Given the description of an element on the screen output the (x, y) to click on. 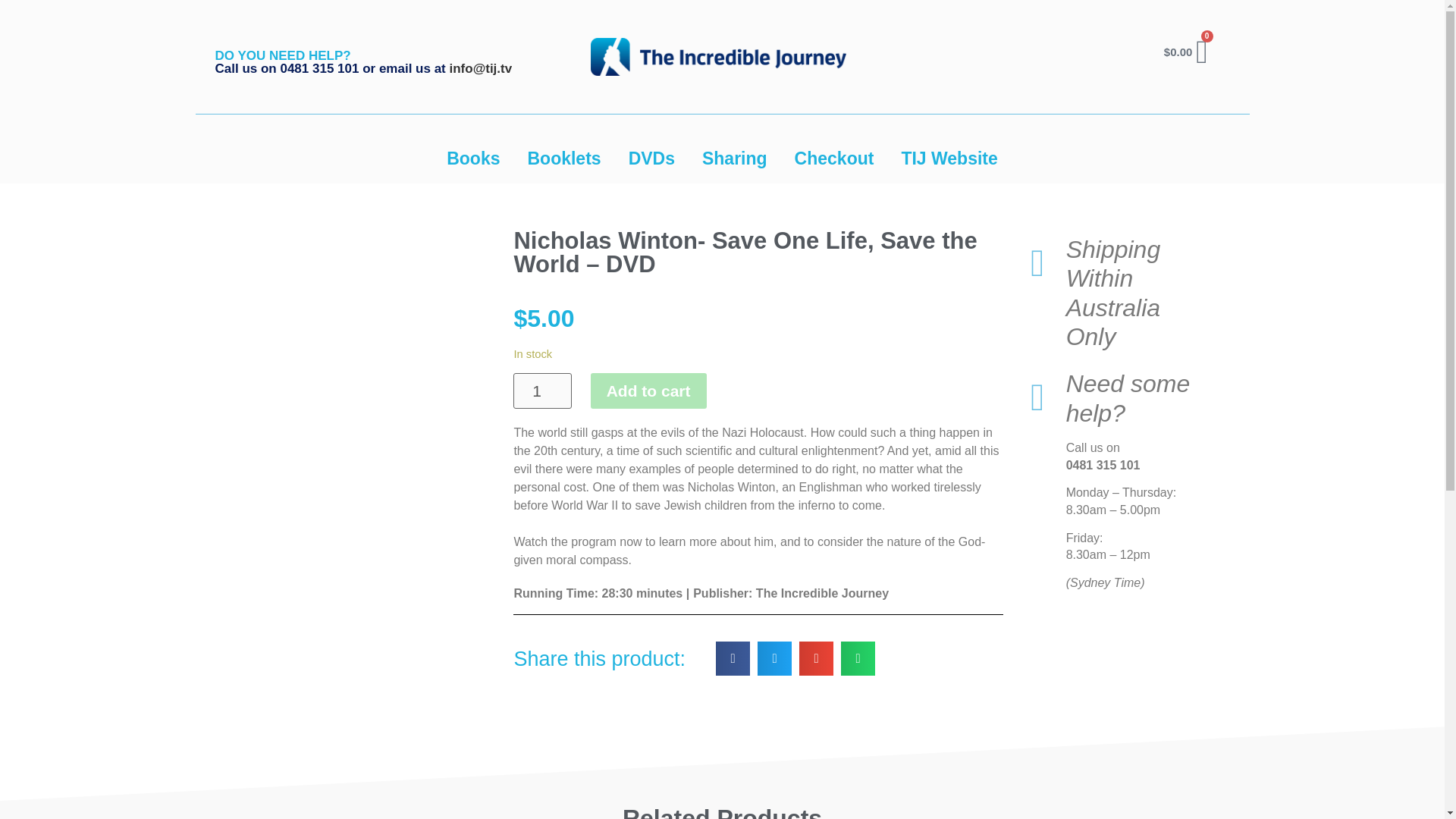
Add to cart (648, 390)
Books (472, 158)
DVDs (651, 158)
Need some help? (1128, 397)
TIJ Website (948, 158)
Booklets (563, 158)
1 (541, 390)
Sharing (734, 158)
Checkout (834, 158)
